Given the description of an element on the screen output the (x, y) to click on. 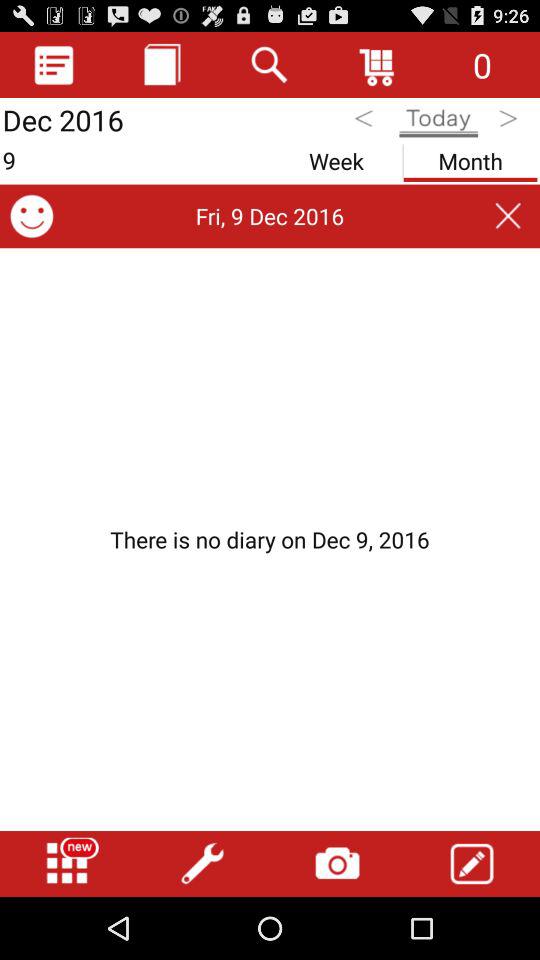
take a photo (337, 863)
